Given the description of an element on the screen output the (x, y) to click on. 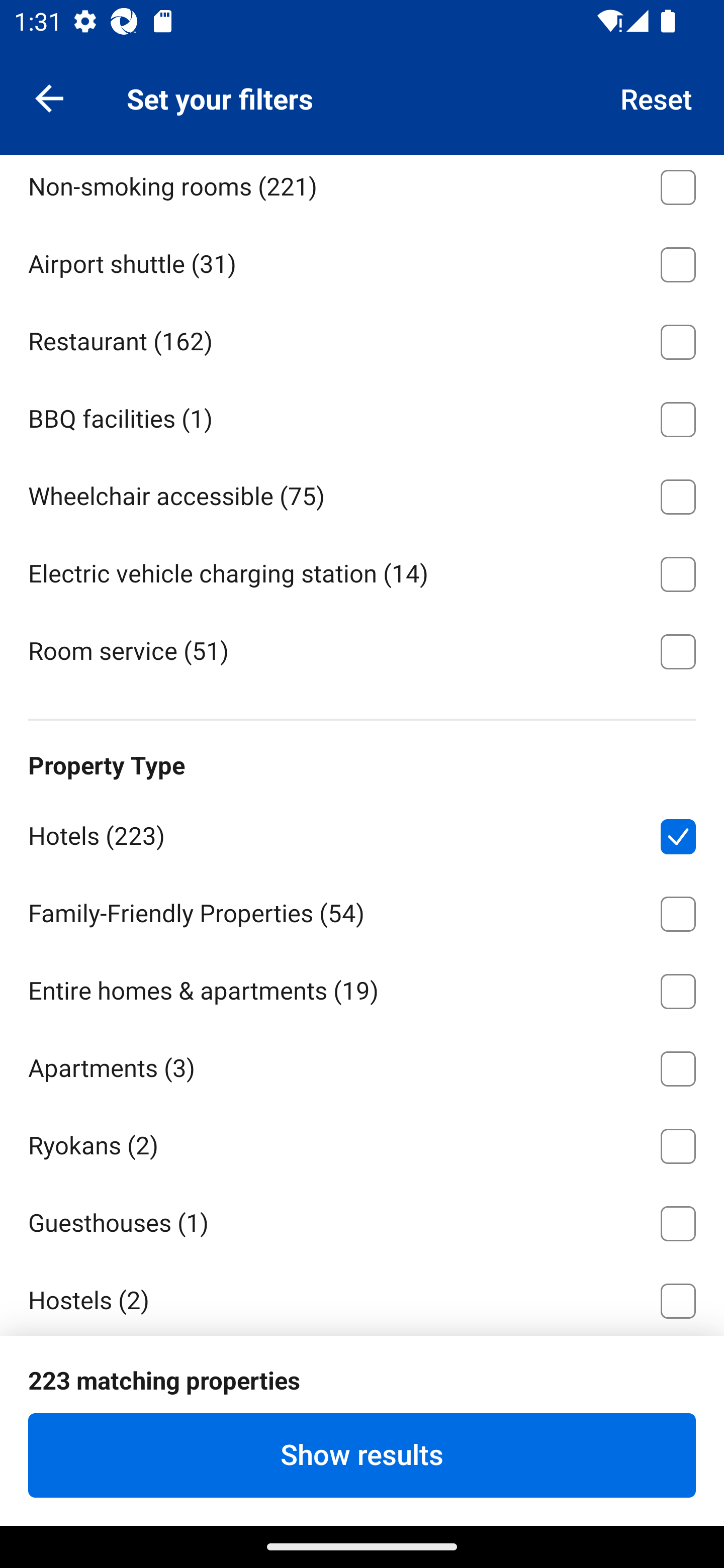
Navigate up (49, 97)
Reset (656, 97)
Fitness center ⁦(50) (361, 106)
Non-smoking rooms ⁦(221) (361, 188)
Airport shuttle ⁦(31) (361, 260)
Restaurant ⁦(162) (361, 338)
BBQ facilities ⁦(1) (361, 415)
Wheelchair accessible ⁦(75) (361, 492)
Electric vehicle charging station ⁦(14) (361, 570)
Room service ⁦(51) (361, 649)
Hotels ⁦(223) (361, 832)
Family-Friendly Properties ⁦(54) (361, 909)
Entire homes & apartments ⁦(19) (361, 987)
Apartments ⁦(3) (361, 1065)
Ryokans ⁦(2) (361, 1142)
Guesthouses ⁦(1) (361, 1220)
Hostels ⁦(2) (361, 1297)
Show results (361, 1454)
